Given the description of an element on the screen output the (x, y) to click on. 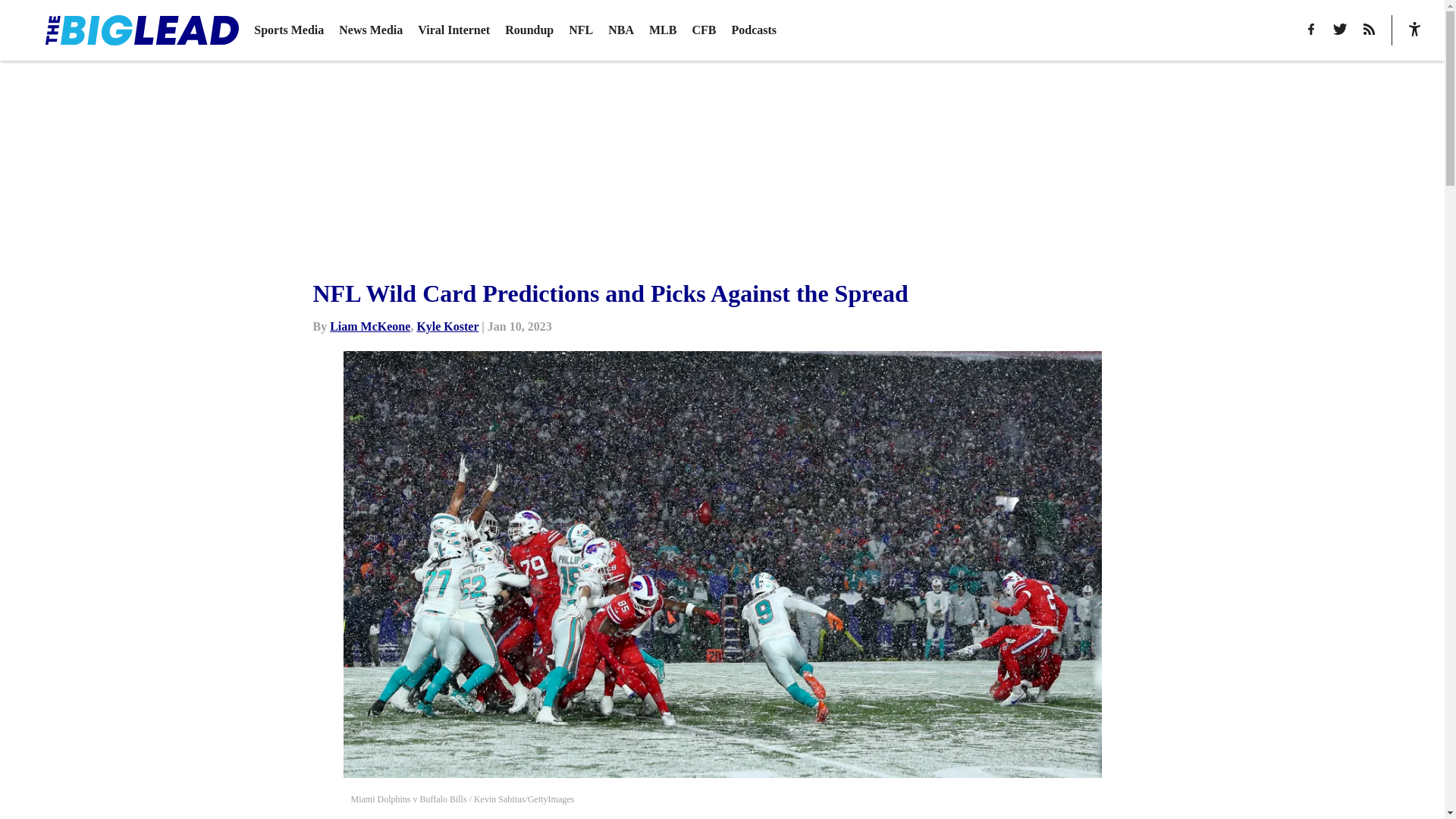
Viral Internet (453, 30)
MLB (663, 30)
Roundup (529, 30)
Sports Media (288, 30)
CFB (703, 30)
Podcasts (753, 30)
Kyle Koster (447, 326)
NFL (580, 30)
NBA (620, 30)
